Given the description of an element on the screen output the (x, y) to click on. 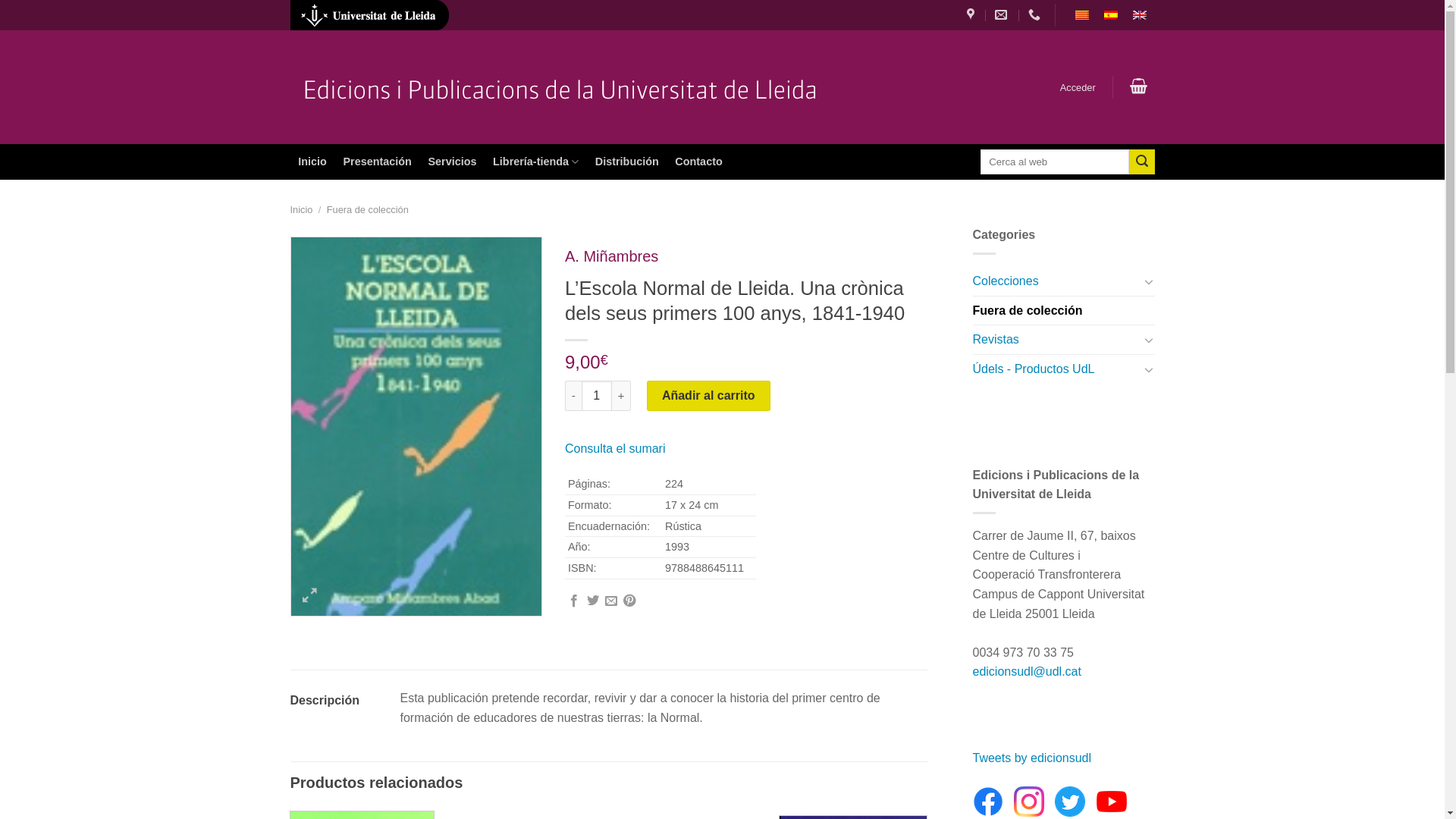
Edicions i Publicacions de la Universitat de Lleida Element type: hover (554, 87)
edicionsudl.comercial@udl.cat Element type: hover (1002, 14)
Contacto Element type: text (699, 161)
Revistas Element type: text (1055, 339)
Colecciones Element type: text (1055, 280)
Compartir en Facebook Element type: hover (573, 601)
Zoom Element type: hover (309, 597)
edicionsudl@udl.cat Element type: text (1026, 671)
Carrer de Jaume II, 67. 25001 Lleida Element type: hover (972, 14)
973 703 375 Element type: hover (1036, 14)
Saltar al contenido Element type: text (0, 0)
Tweets by edicionsudl Element type: text (1031, 757)
Acceder Element type: text (1077, 87)
Servicios Element type: text (452, 161)
Consulta el sumari Element type: text (614, 448)
Compartir en Twitter Element type: hover (592, 601)
Buscar Element type: text (1141, 162)
Inicio Element type: text (311, 161)
Pinear en Pinterest Element type: hover (629, 601)
Carrito Element type: hover (1138, 85)
Inicio Element type: text (300, 209)
